Given the description of an element on the screen output the (x, y) to click on. 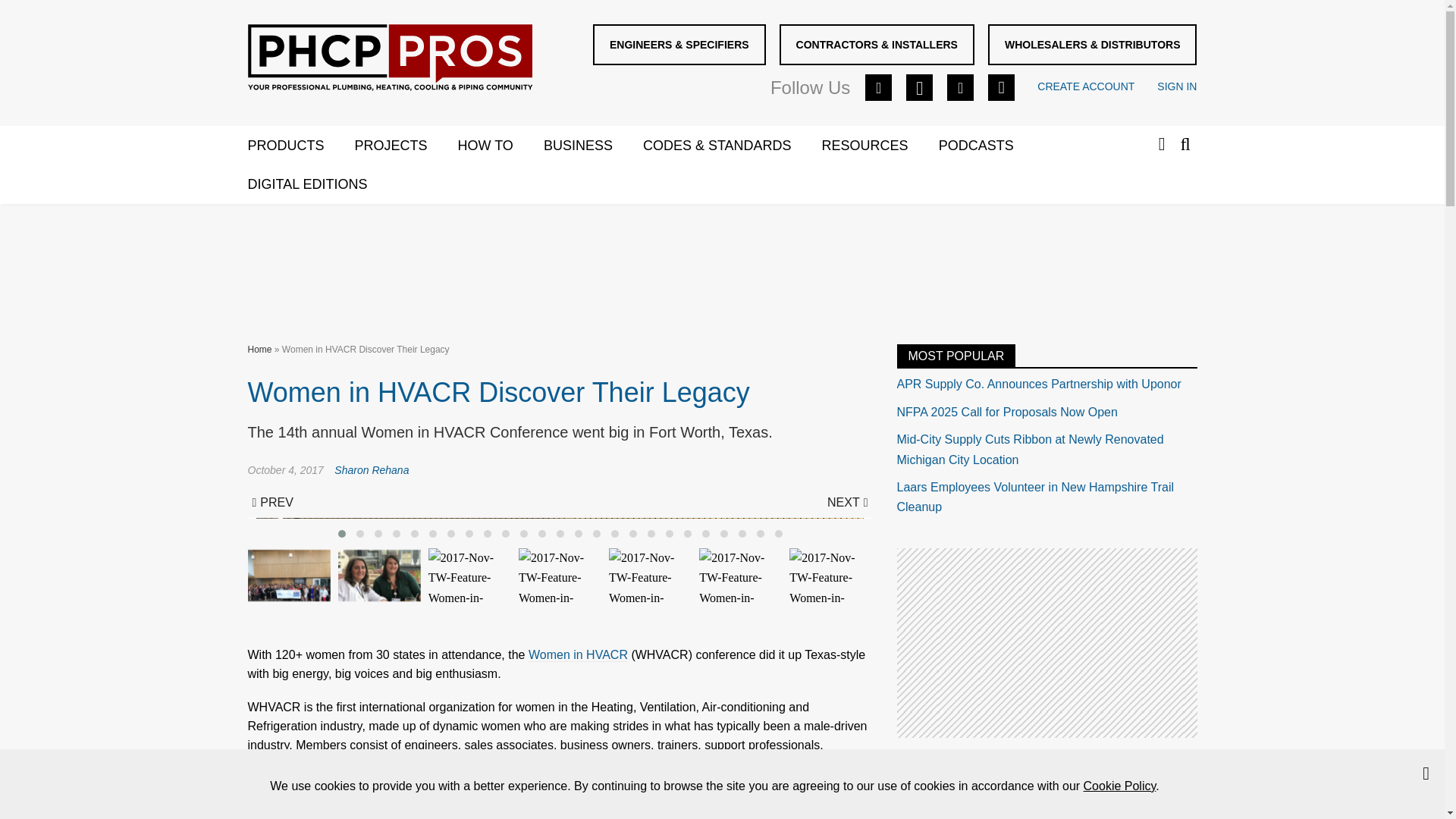
logo (389, 57)
3rd party ad content (721, 260)
3rd party ad content (1046, 642)
